Given the description of an element on the screen output the (x, y) to click on. 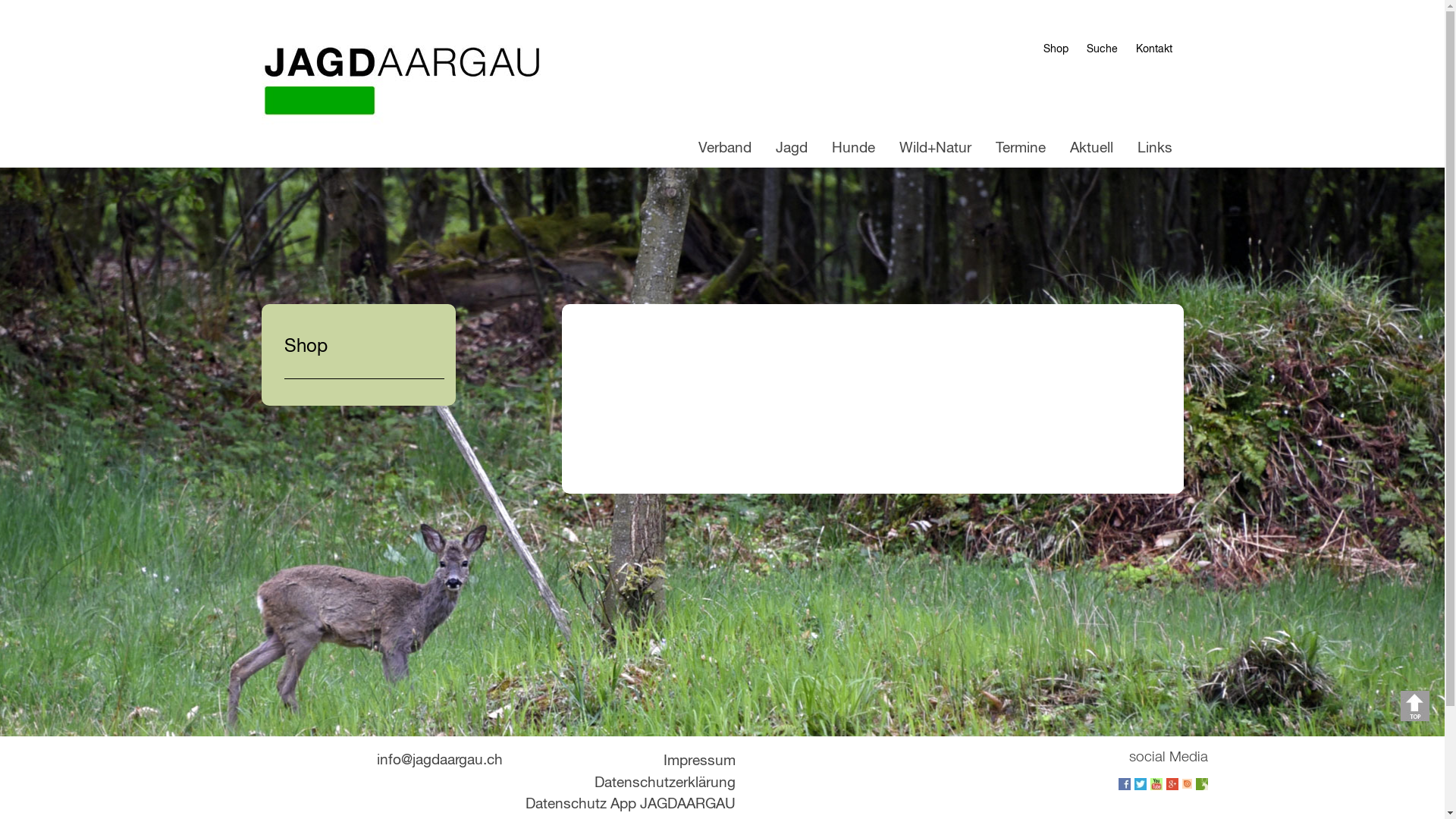
Impressum Element type: text (698, 760)
Verband Element type: text (724, 148)
Jagd Element type: text (791, 148)
Hunde Element type: text (853, 148)
Shop Element type: text (1055, 48)
Links Element type: text (1154, 148)
info@jagdaargau.ch Element type: text (439, 760)
Termine Element type: text (1020, 148)
Aktuell Element type: text (1091, 148)
Kontakt Element type: text (1153, 48)
Datenschutz App JAGDAARGAU Element type: text (629, 804)
Suche Element type: text (1101, 48)
Wild+Natur Element type: text (934, 148)
